Given the description of an element on the screen output the (x, y) to click on. 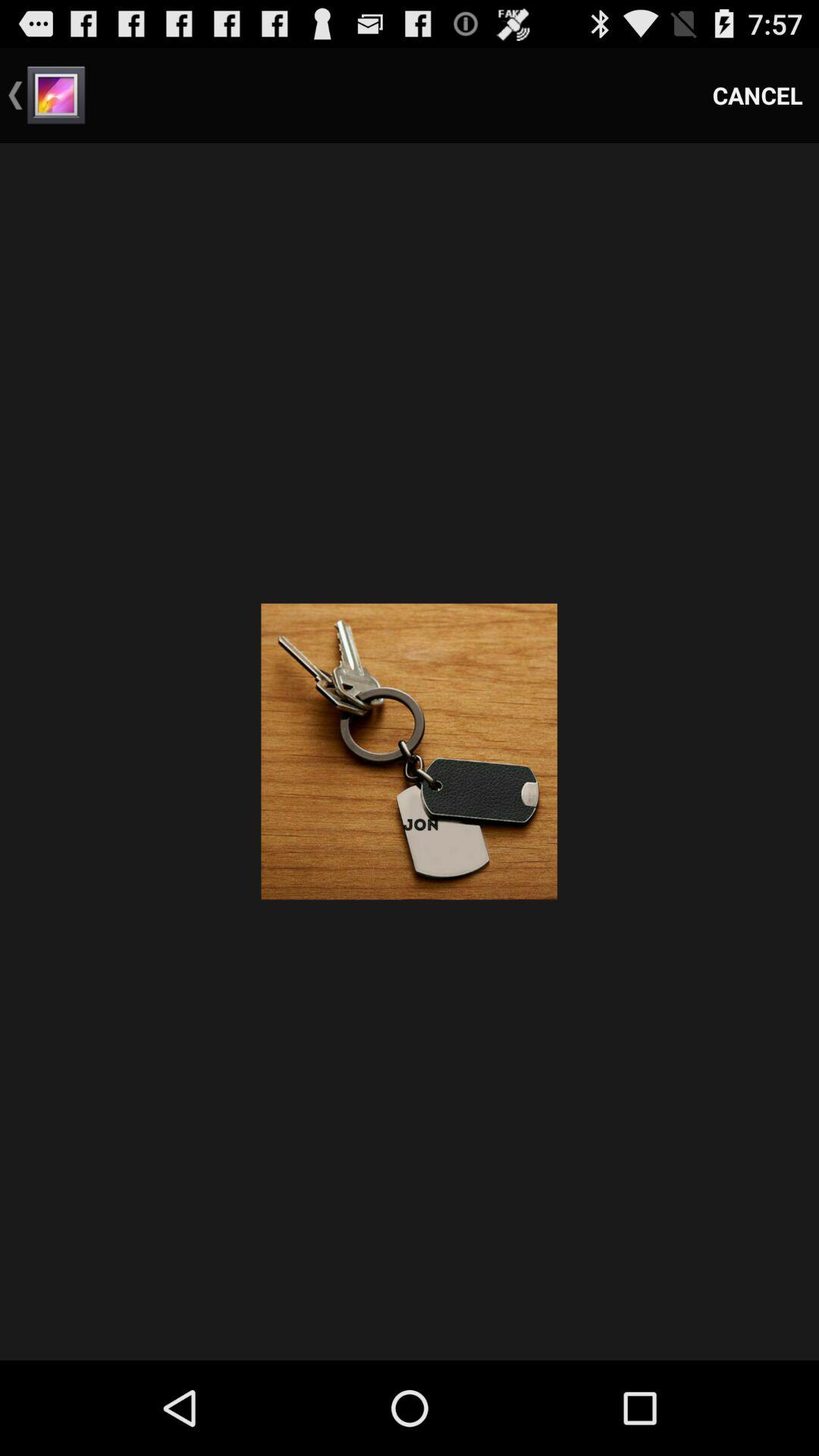
select the item at the top right corner (757, 95)
